Given the description of an element on the screen output the (x, y) to click on. 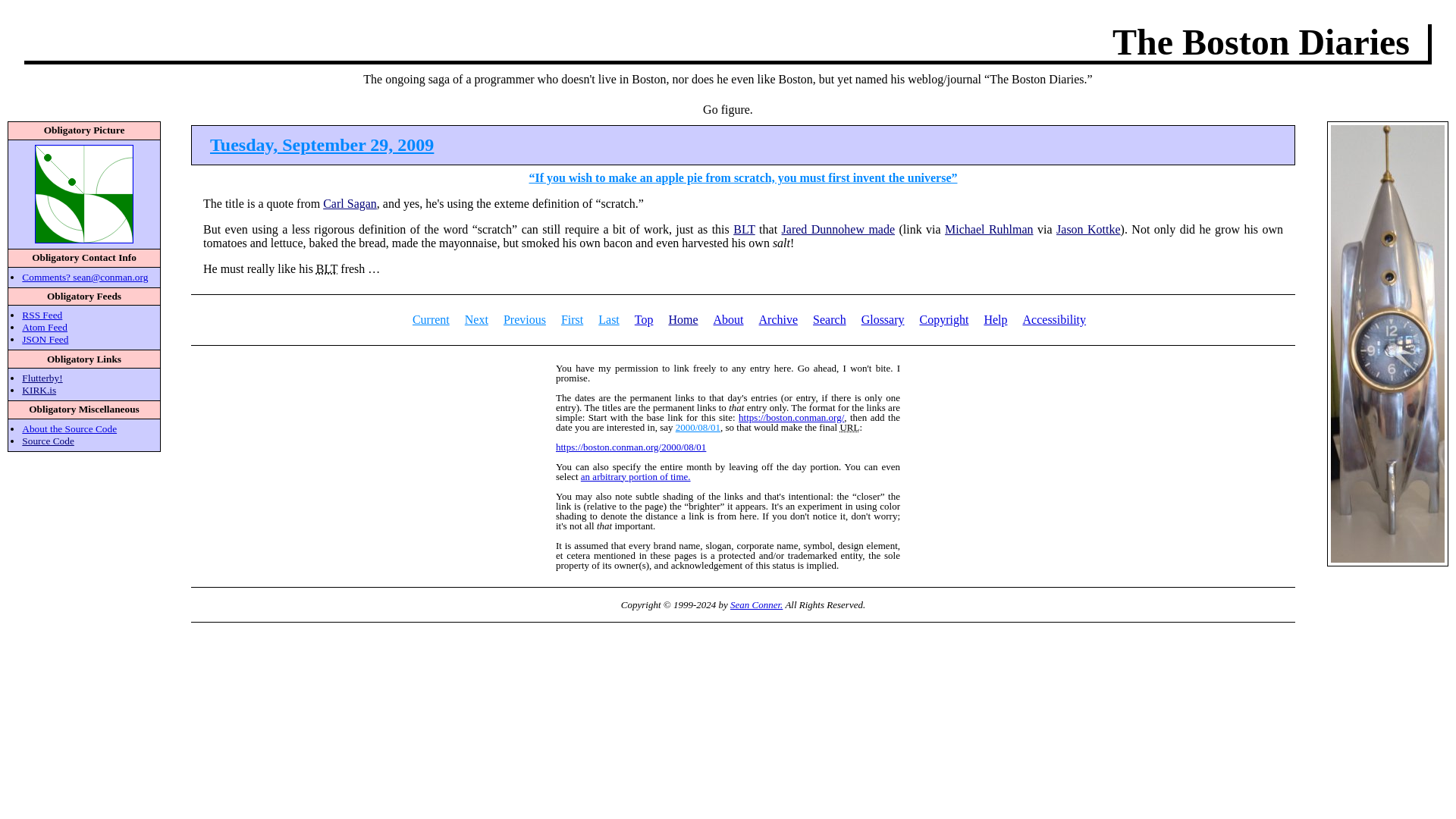
KIRK.is (38, 389)
Top (643, 318)
Next (475, 318)
Michael Ruhlman (988, 228)
Flutterby! (41, 378)
an arbitrary portion of time. (635, 475)
About (728, 318)
Think (475, 318)
Jason Kottke (1089, 228)
Help (995, 318)
